Given the description of an element on the screen output the (x, y) to click on. 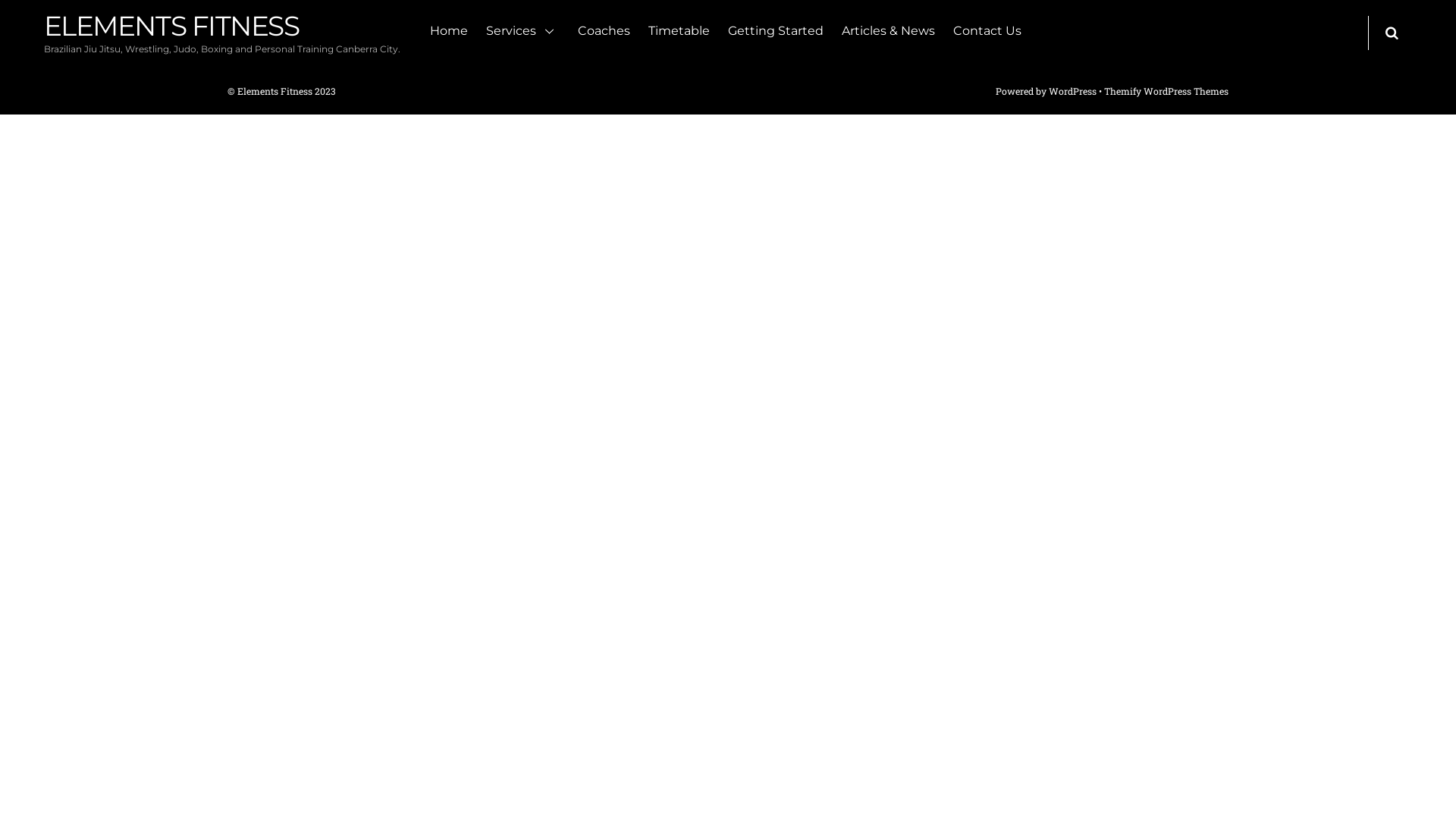
Elements Fitness Element type: text (274, 90)
WordPress Element type: text (1072, 90)
Themify WordPress Themes Element type: text (1166, 90)
Home Element type: text (448, 33)
Contact Us Element type: text (987, 33)
Services Element type: text (522, 33)
Timetable Element type: text (678, 33)
Coaches Element type: text (603, 33)
ELEMENTS FITNESS Element type: text (171, 25)
Back to top Element type: text (250, 54)
Getting Started Element type: text (775, 33)
Articles & News Element type: text (888, 33)
